Given the description of an element on the screen output the (x, y) to click on. 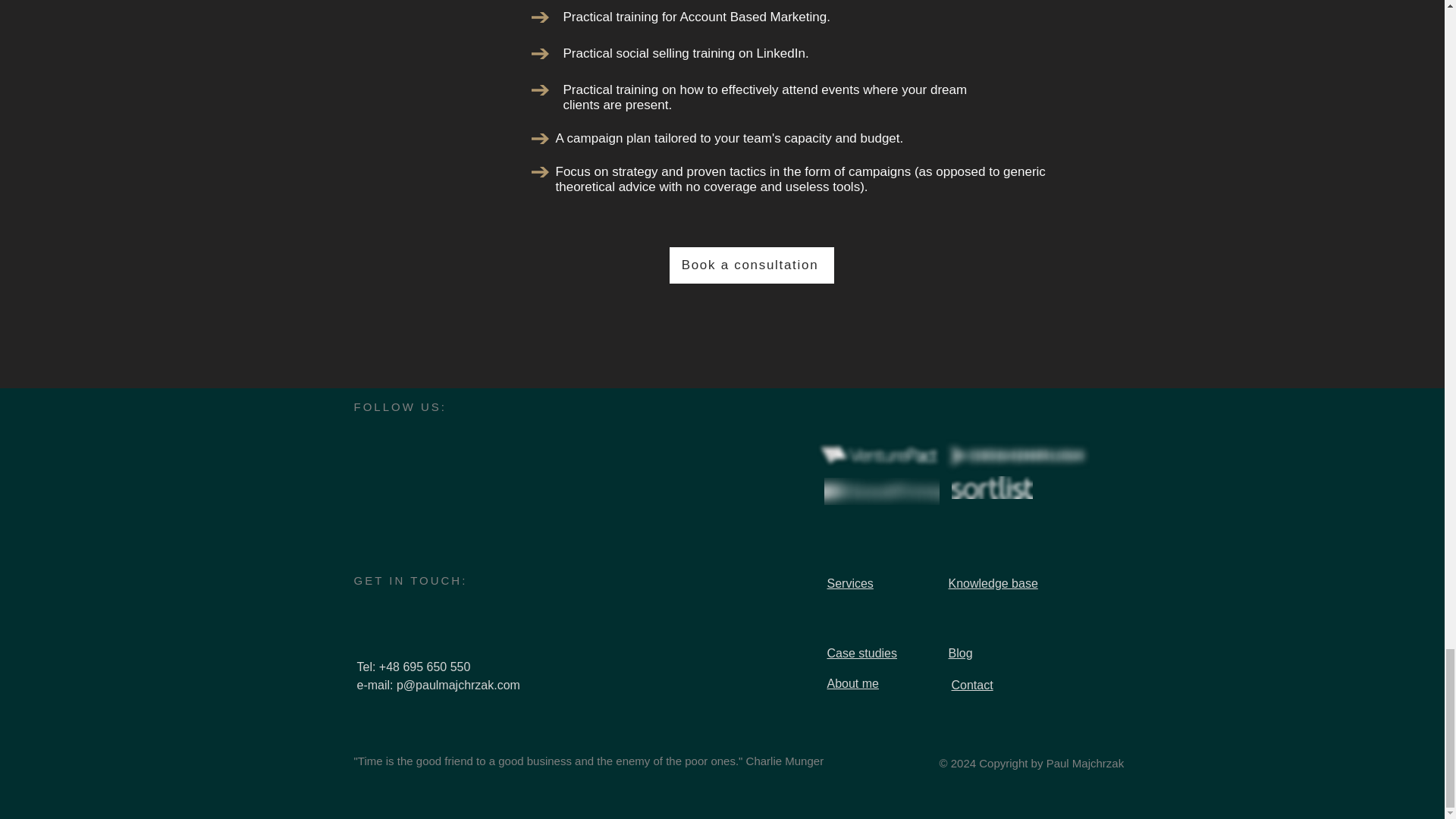
Knowledge base (991, 583)
Get started (725, 238)
About me (852, 683)
Case studies (861, 653)
Contact (971, 684)
Book a consultation (750, 265)
Blog (959, 653)
Services (849, 583)
